Given the description of an element on the screen output the (x, y) to click on. 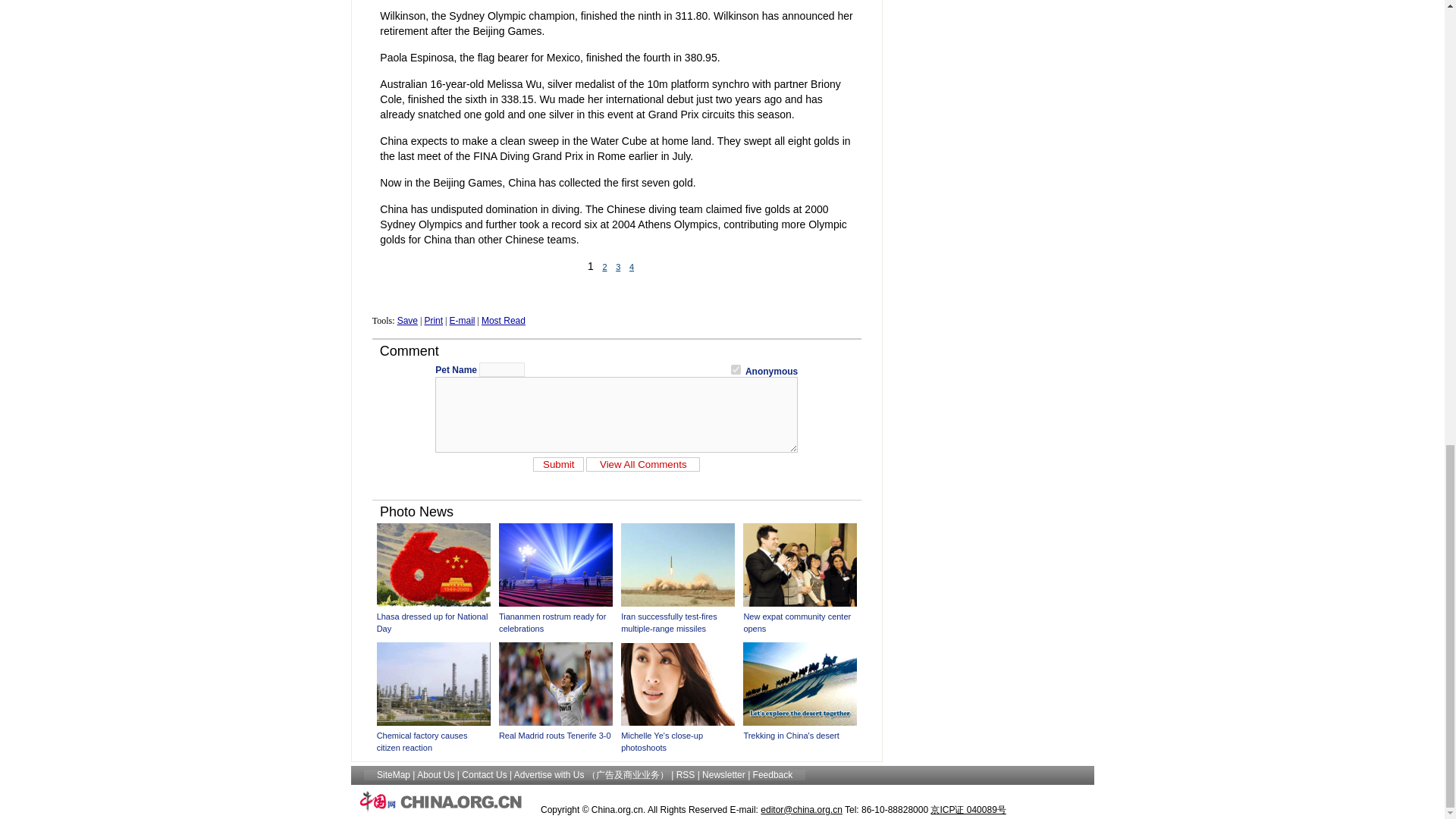
Save (407, 320)
Most Read (503, 320)
Submit (557, 463)
Print (432, 320)
E-mail (461, 320)
1 (735, 369)
View All Comments (643, 463)
